Given the description of an element on the screen output the (x, y) to click on. 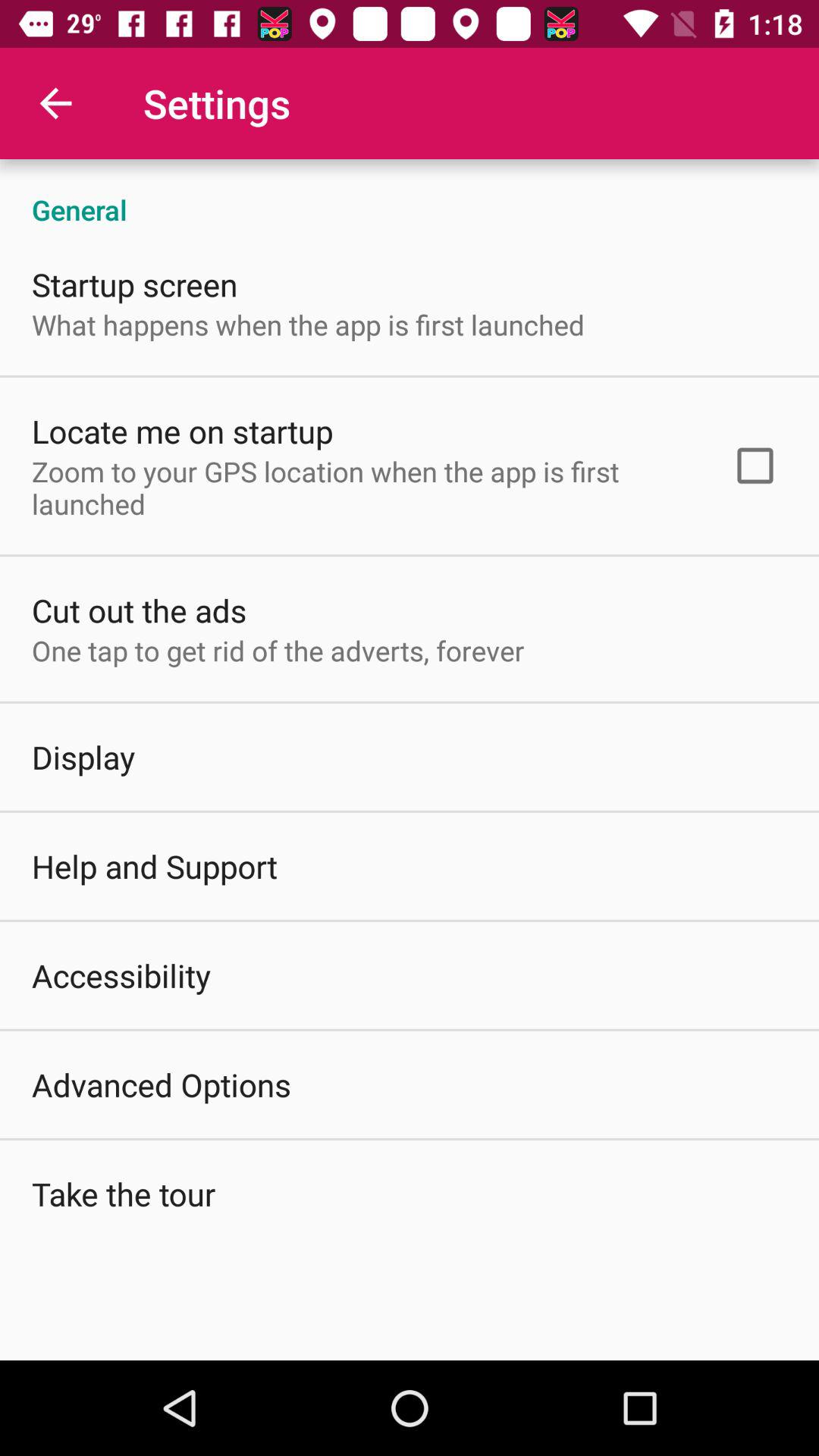
click the item below display icon (154, 865)
